Given the description of an element on the screen output the (x, y) to click on. 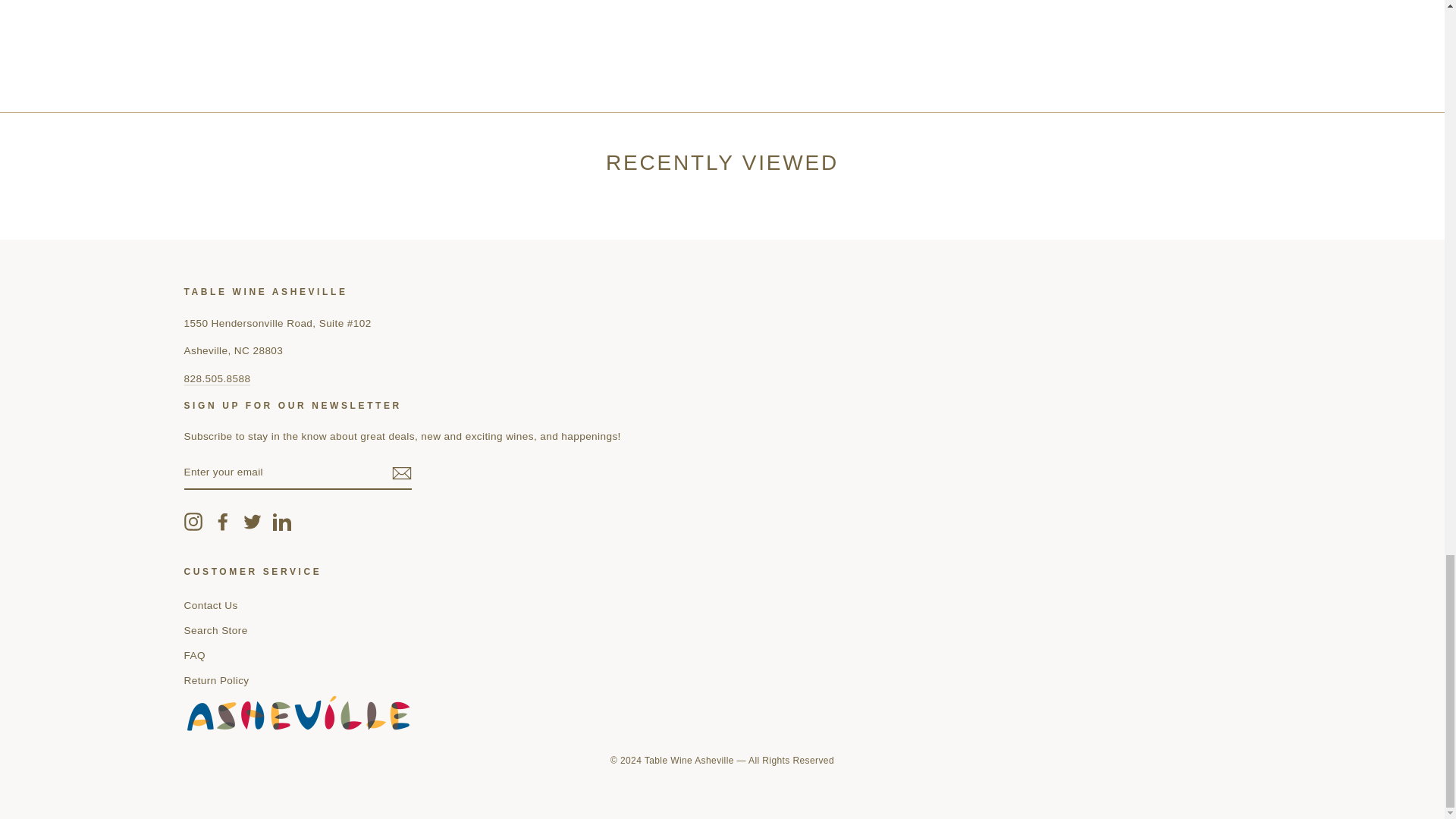
Table Wine Asheville on Instagram (192, 521)
tel:828.505.8588 (216, 379)
Table Wine Asheville on Facebook (222, 521)
Table Wine Asheville on Twitter (251, 521)
Table Wine Asheville on LinkedIn (282, 521)
